Given the description of an element on the screen output the (x, y) to click on. 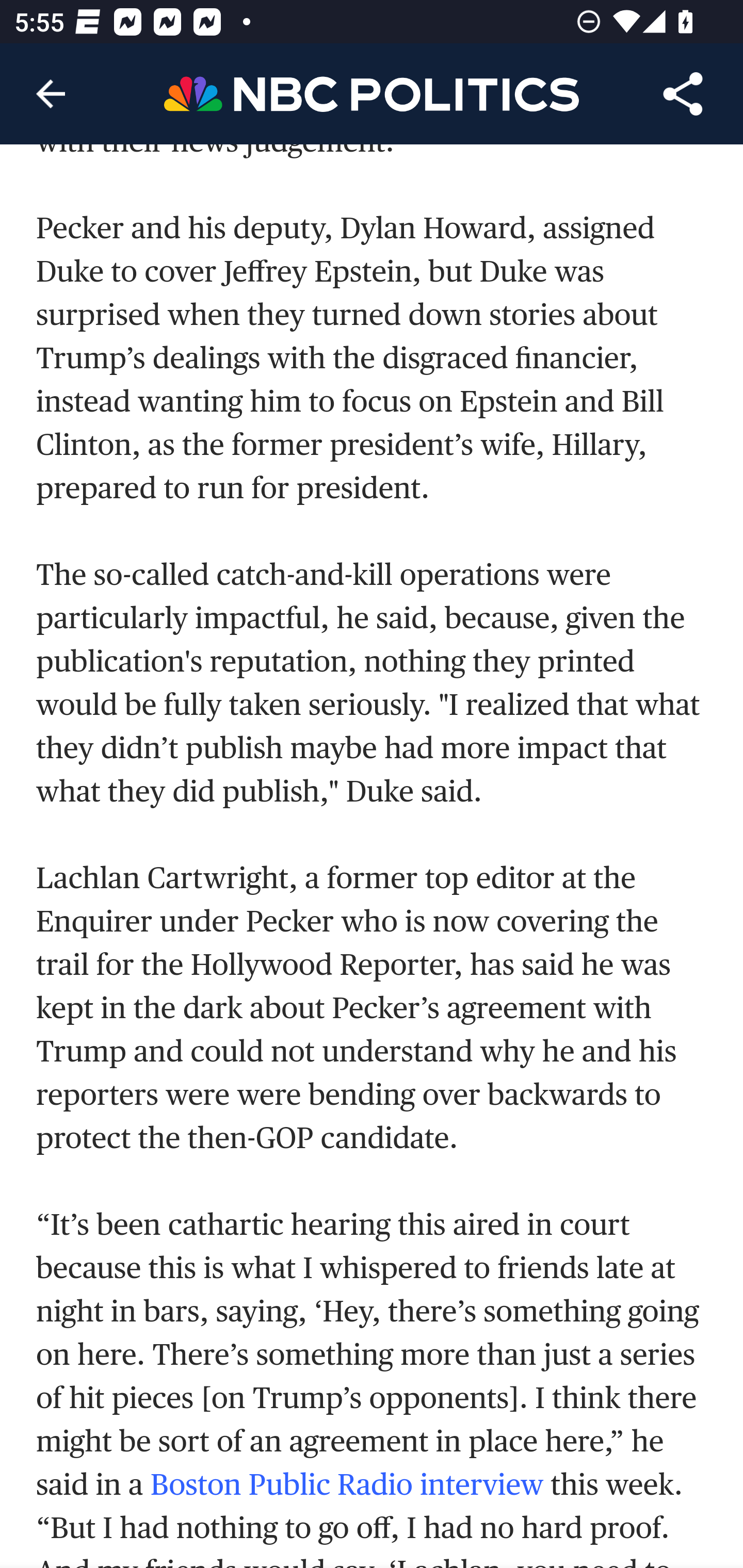
Navigate up (50, 93)
Share Article, button (683, 94)
Header, NBC Politics (371, 93)
Boston Public Radio interview (347, 1484)
